Given the description of an element on the screen output the (x, y) to click on. 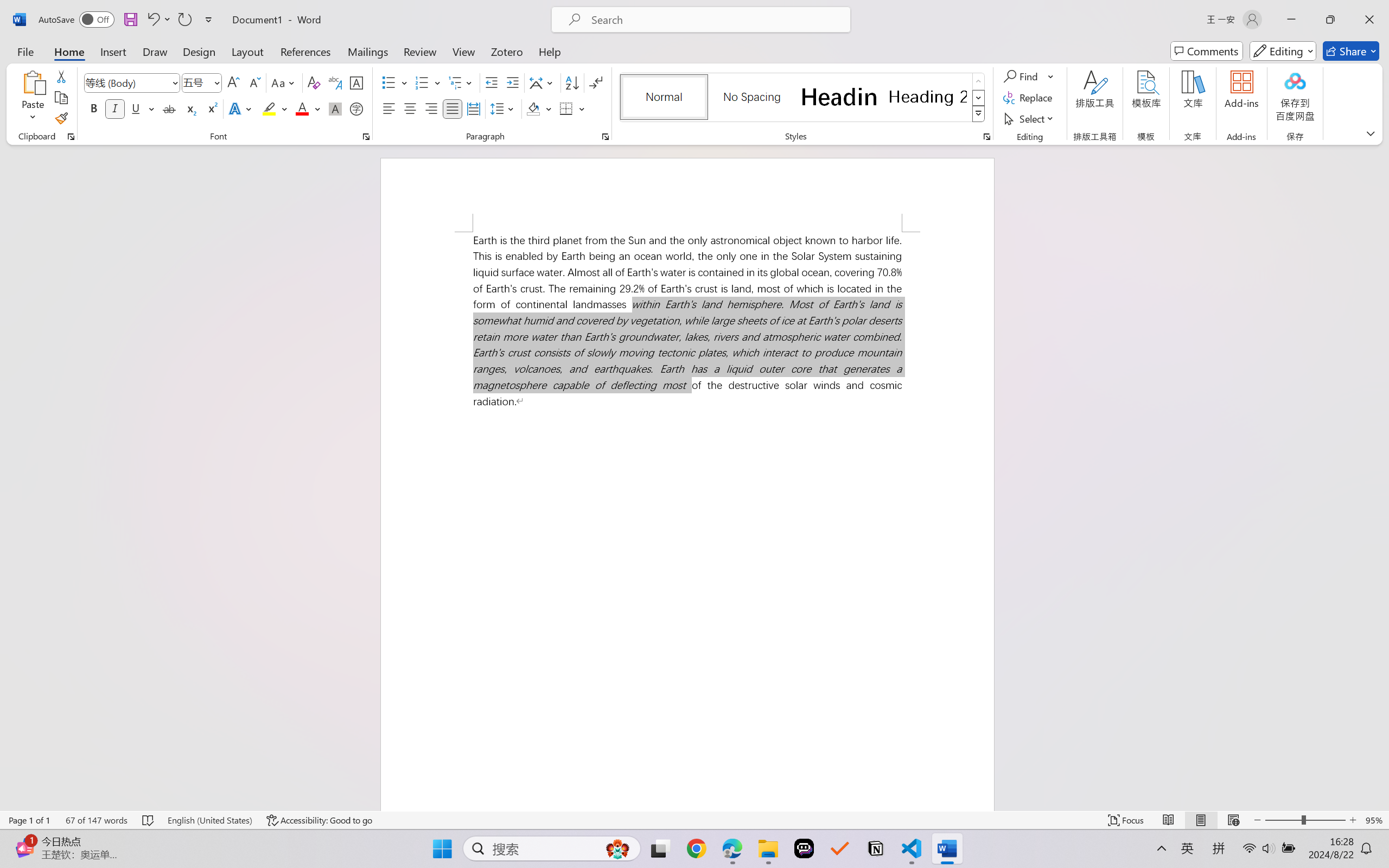
Clear Formatting (313, 82)
AutomationID: QuickStylesGallery (802, 97)
Distributed (473, 108)
Cut (60, 75)
Asian Layout (542, 82)
Enclose Characters... (356, 108)
Bold (94, 108)
Line and Paragraph Spacing (503, 108)
